Given the description of an element on the screen output the (x, y) to click on. 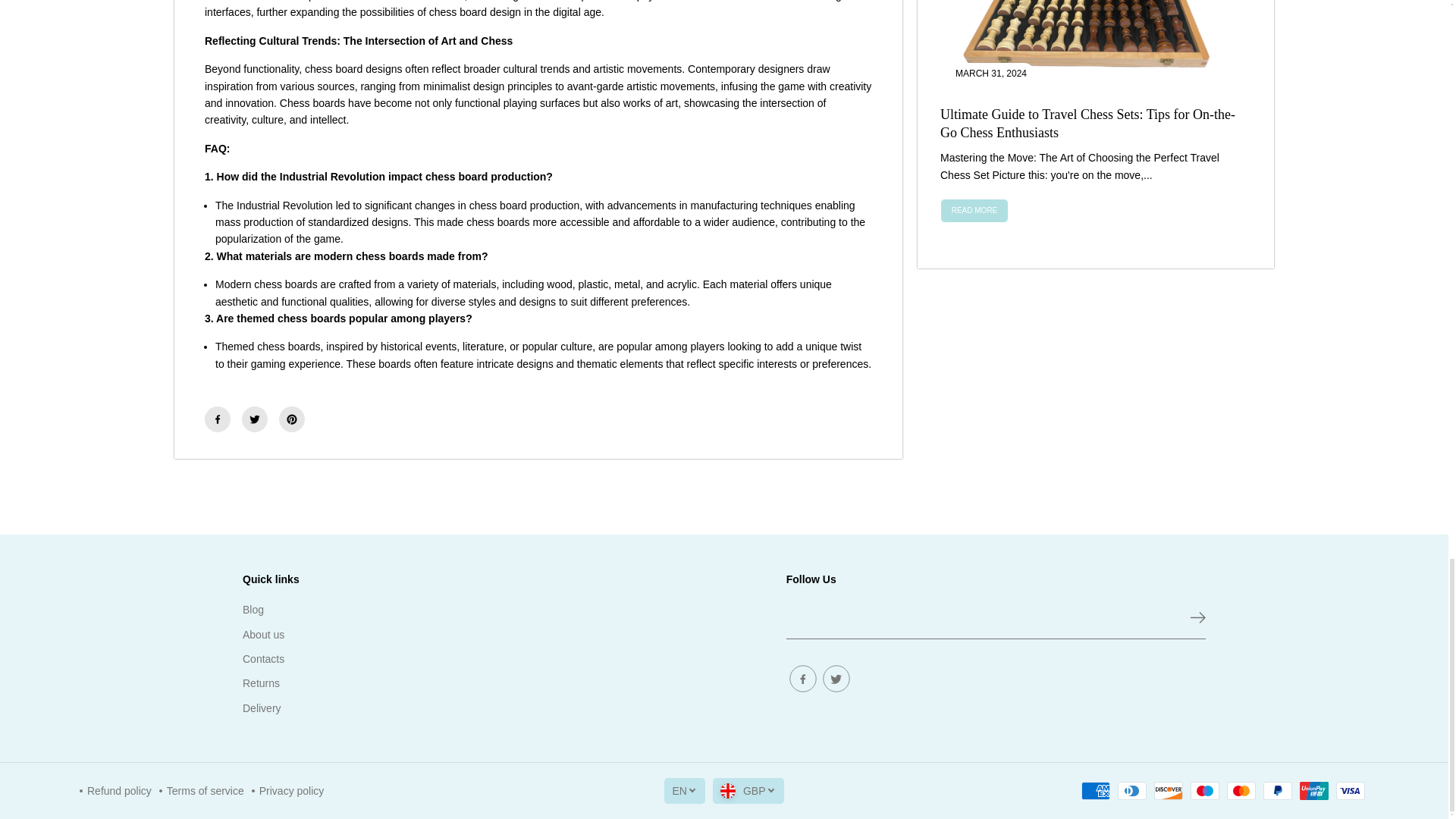
American Express (1095, 791)
Twitter (254, 419)
Discover (1168, 791)
Diners Club (1132, 791)
Pinterest (291, 419)
Facebook (217, 419)
Maestro (1205, 791)
Union Pay (1313, 791)
Mastercard (1241, 791)
PayPal (1277, 791)
Visa (1350, 791)
